Given the description of an element on the screen output the (x, y) to click on. 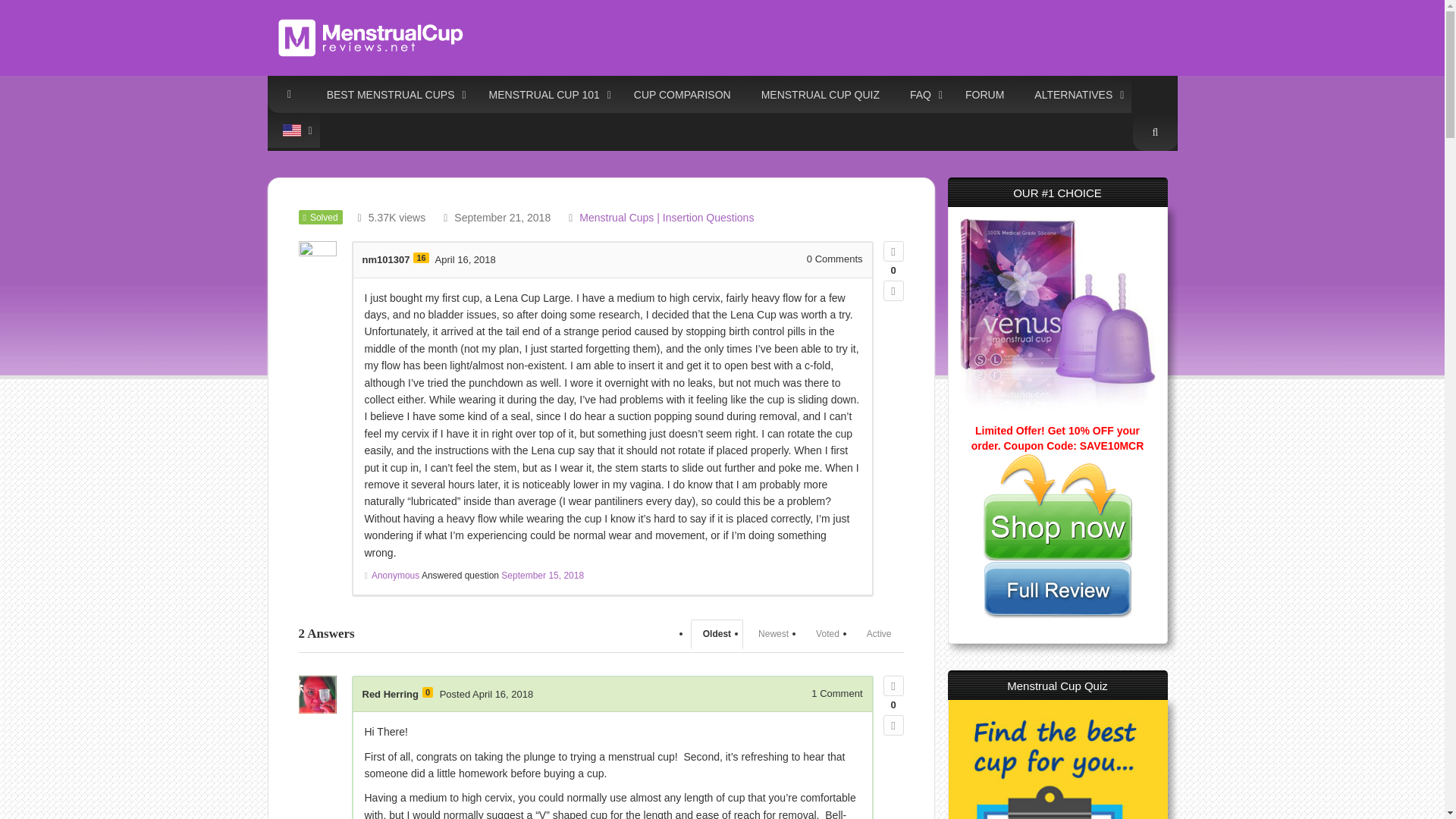
Down vote this post (892, 290)
Reputation (420, 257)
FAQ (922, 94)
FORUM (984, 94)
Up vote this post (892, 250)
CUP COMPARISON (681, 94)
Reputation (427, 692)
Up vote this post (892, 685)
BEST MENSTRUAL CUPS (392, 94)
Click to Read Full Review! (1056, 568)
MENSTRUAL CUP 101 (546, 94)
Down vote this post (892, 724)
MENSTRUAL CUP QUIZ (820, 94)
